Given the description of an element on the screen output the (x, y) to click on. 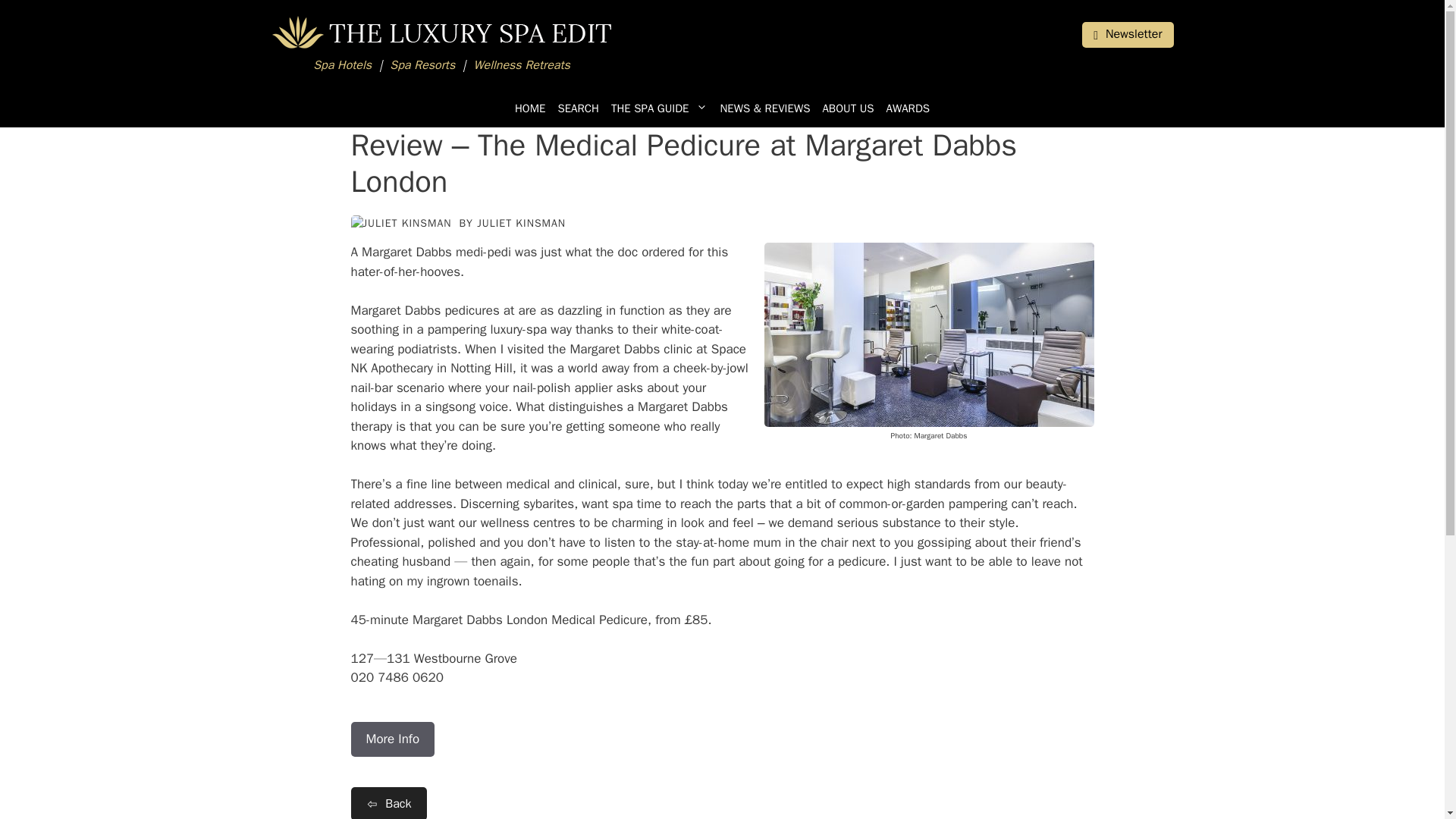
HOME (529, 108)
The Luxury Spa Edit (441, 32)
AWARDS (908, 108)
More Info (391, 738)
SEARCH (578, 108)
ABOUT US (847, 108)
The Luxury Spa Edit (441, 45)
THE SPA GUIDE (659, 108)
Newsletter (1127, 34)
